Given the description of an element on the screen output the (x, y) to click on. 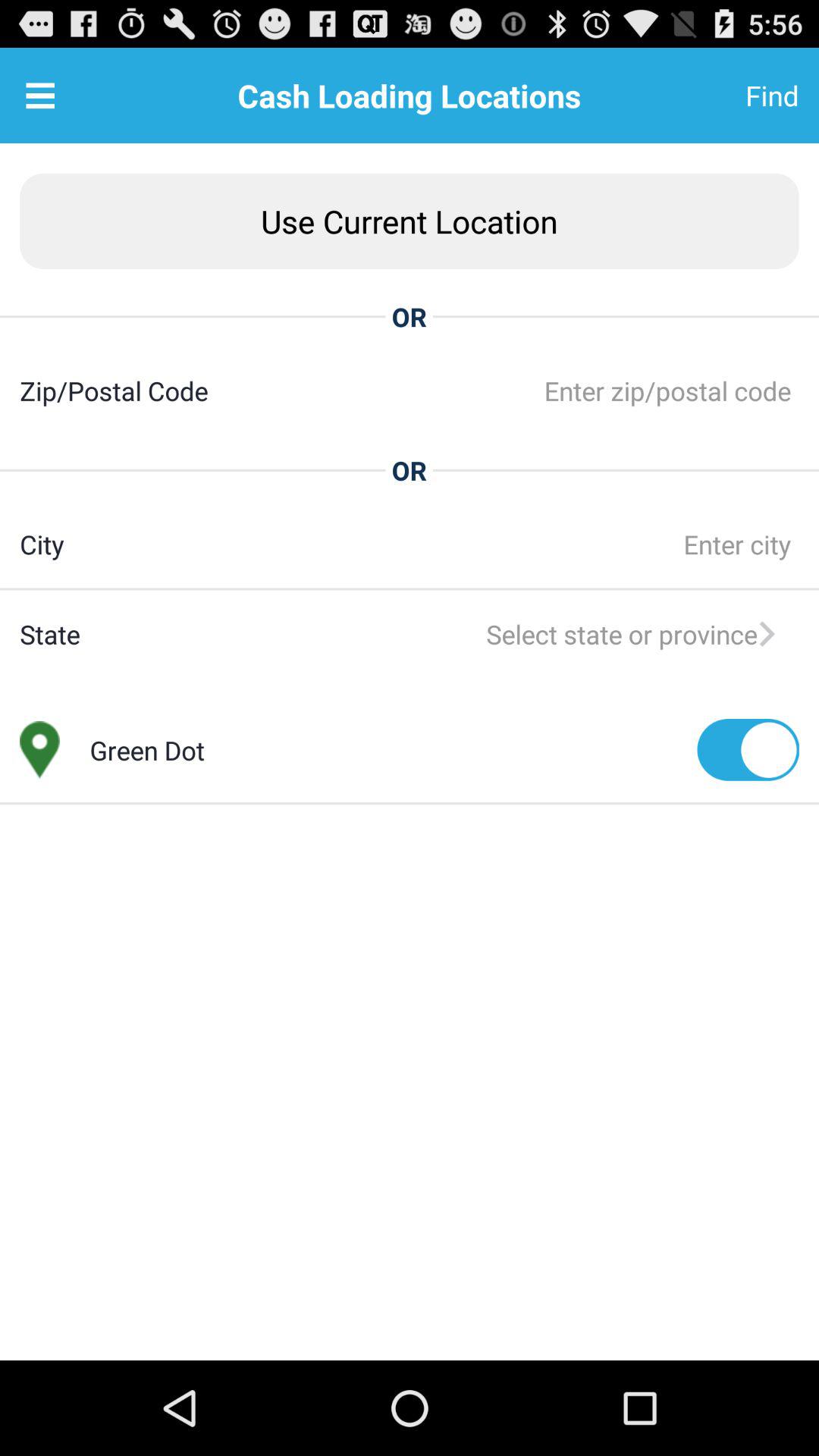
select the item next to the cash loading locations item (39, 95)
